Given the description of an element on the screen output the (x, y) to click on. 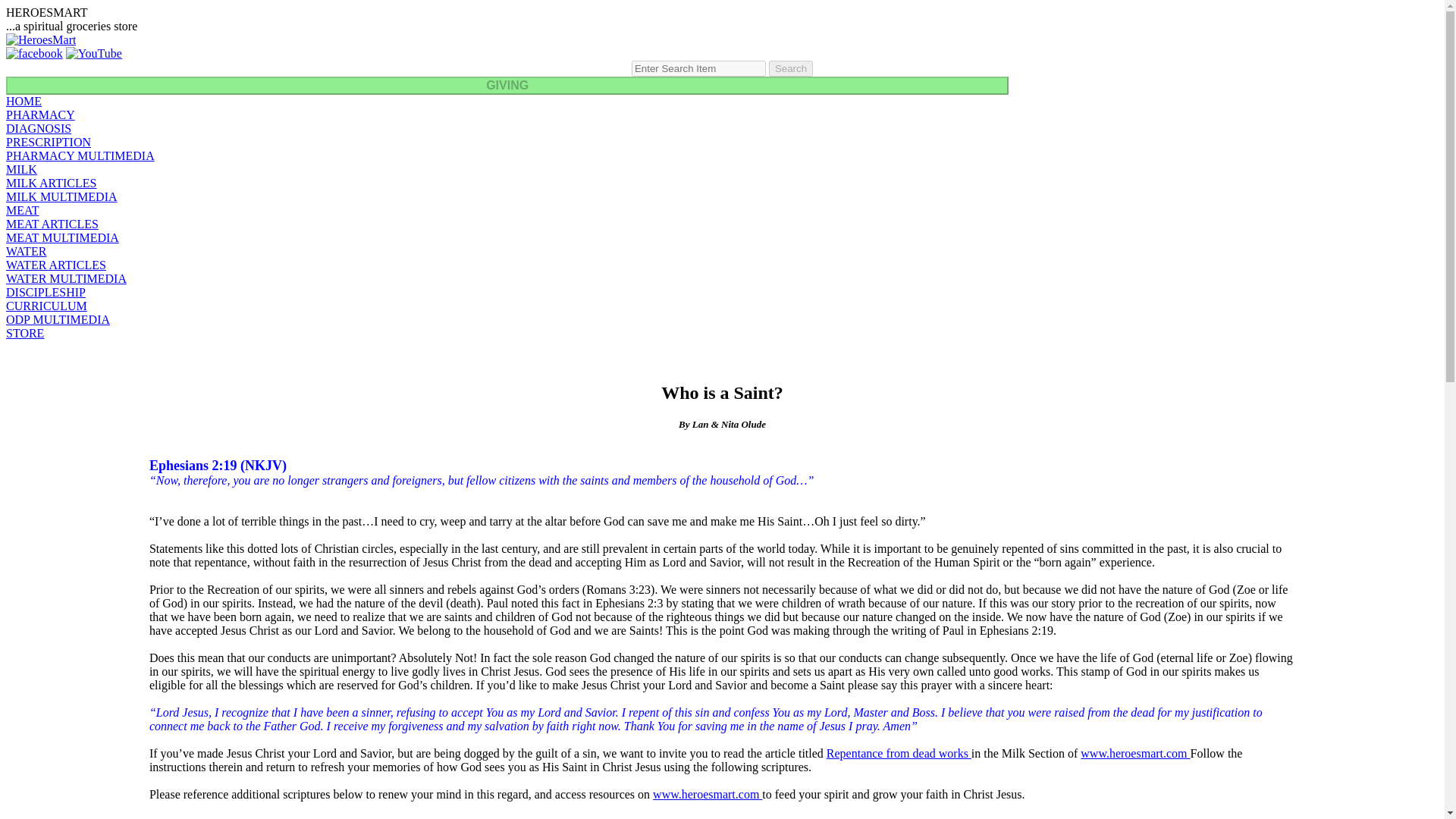
GIVING (507, 85)
Repentance from dead works (899, 753)
Search (790, 68)
www.heroesmart.com (706, 793)
www.heroesmart.com (1134, 753)
Search (790, 68)
GIVING (507, 84)
